Given the description of an element on the screen output the (x, y) to click on. 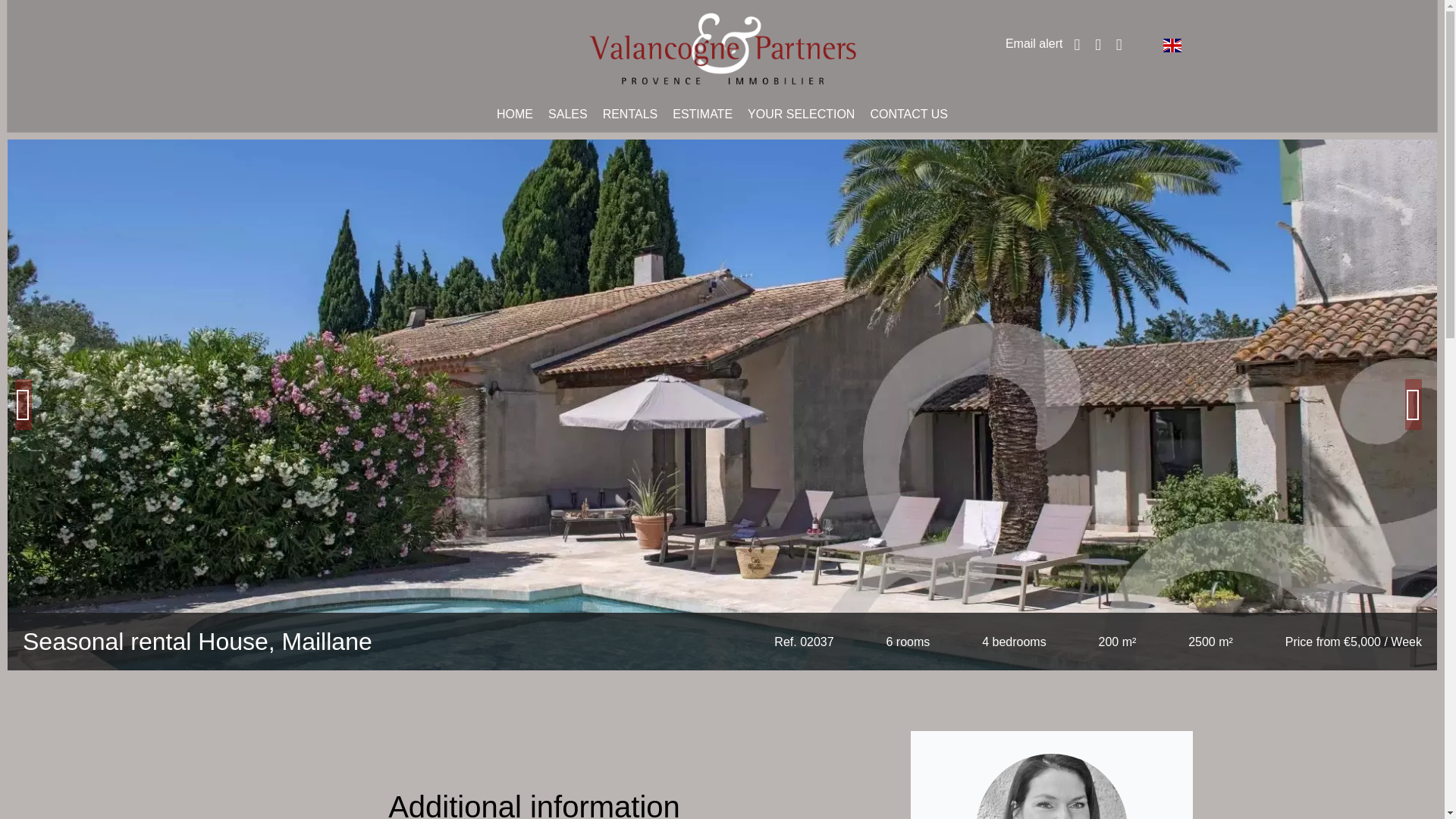
Email alert (1034, 42)
YOUR SELECTION (801, 113)
HOME (514, 113)
CONTACT US (908, 113)
RENTALS (630, 113)
SALES (568, 113)
ESTIMATE (702, 113)
